Given the description of an element on the screen output the (x, y) to click on. 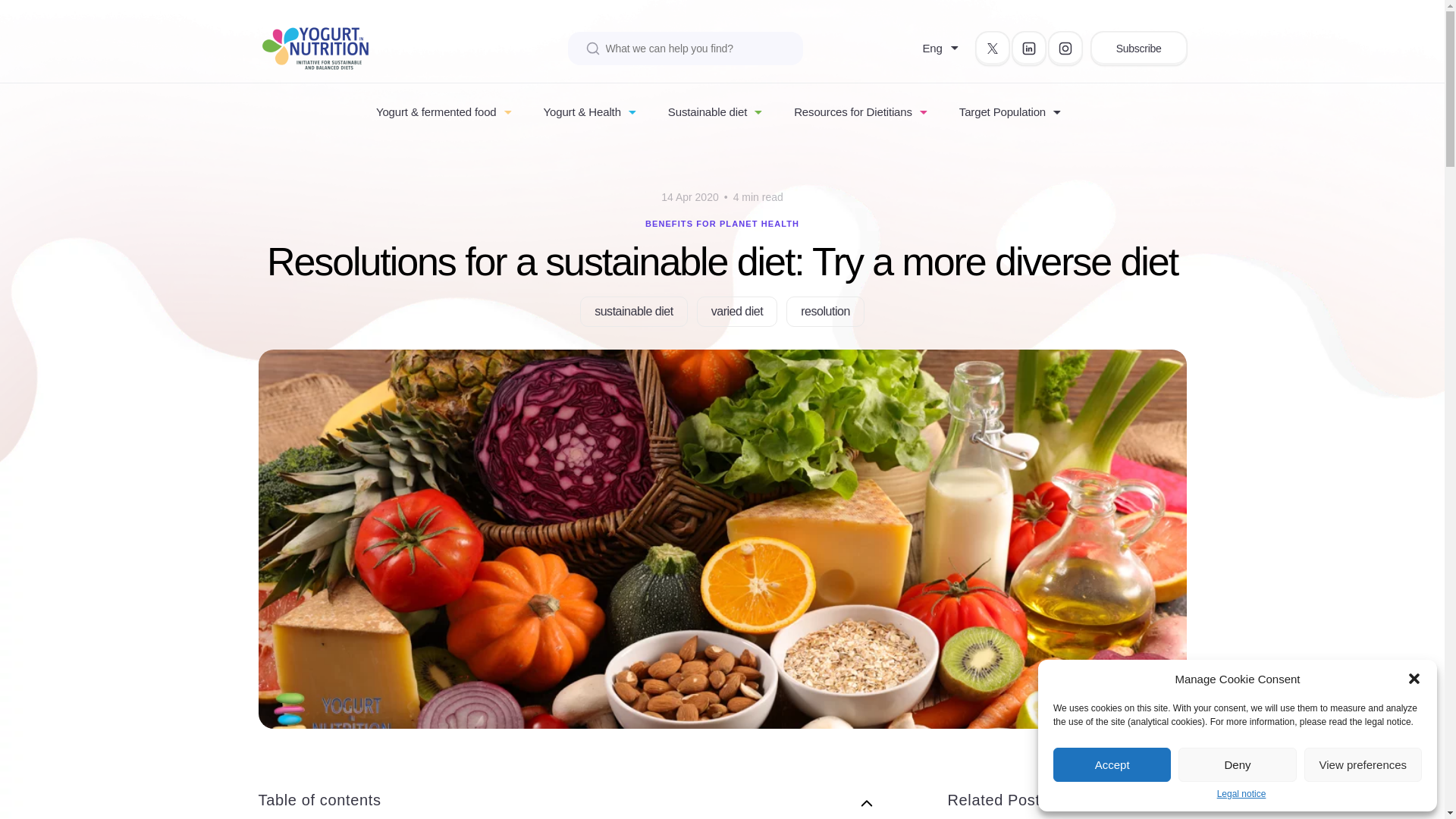
Resources for Dietitians (852, 111)
Deny (1236, 764)
Sustainable diet (707, 111)
Accept (1111, 764)
Legal notice (1241, 794)
View preferences (1363, 764)
